Given the description of an element on the screen output the (x, y) to click on. 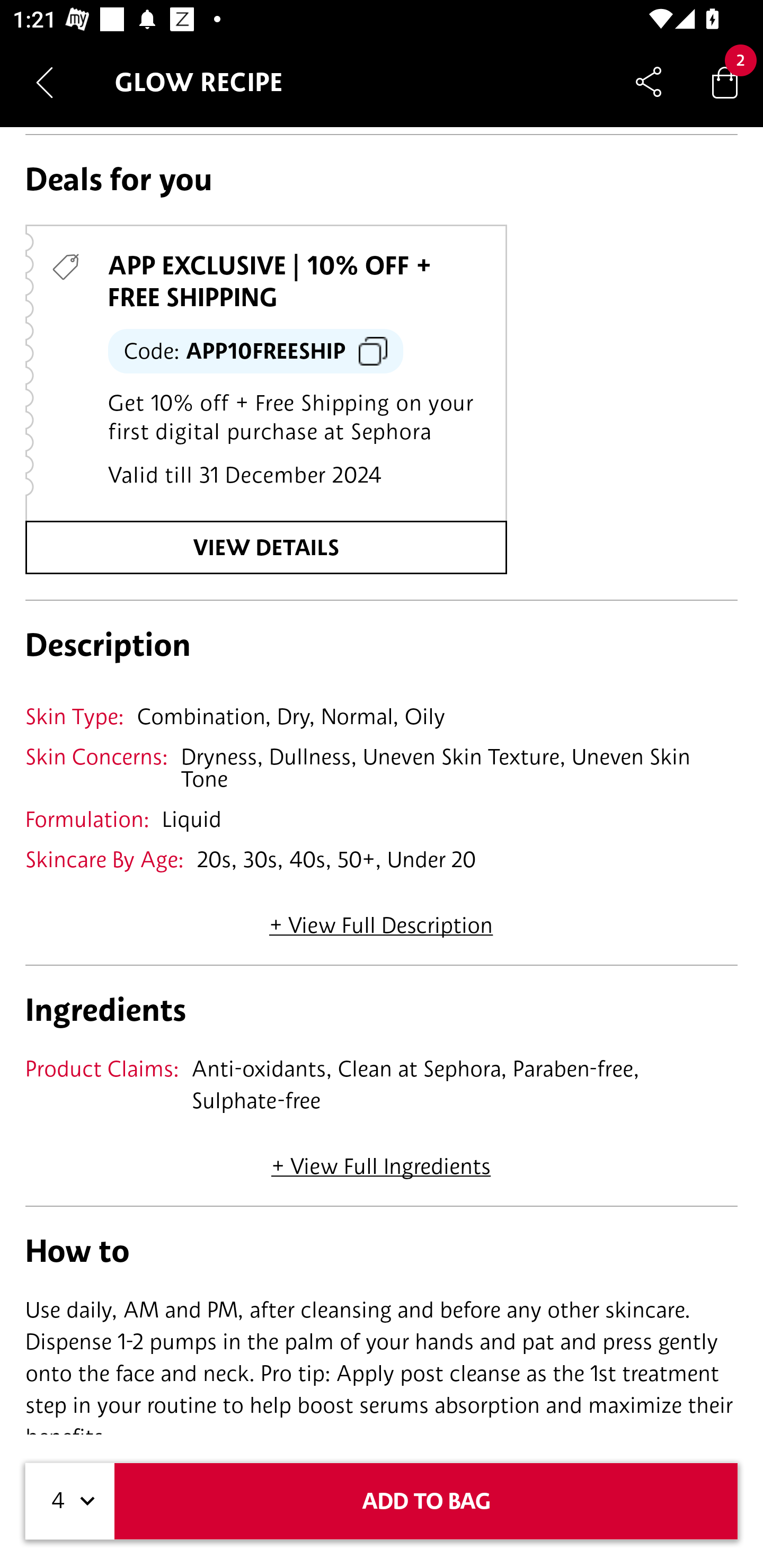
Navigate up (44, 82)
Share (648, 81)
Bag (724, 81)
VIEW DETAILS (266, 546)
+ View Full Description (380, 918)
+ View Full Ingredients (380, 1159)
4 (69, 1500)
ADD TO BAG (425, 1500)
